Given the description of an element on the screen output the (x, y) to click on. 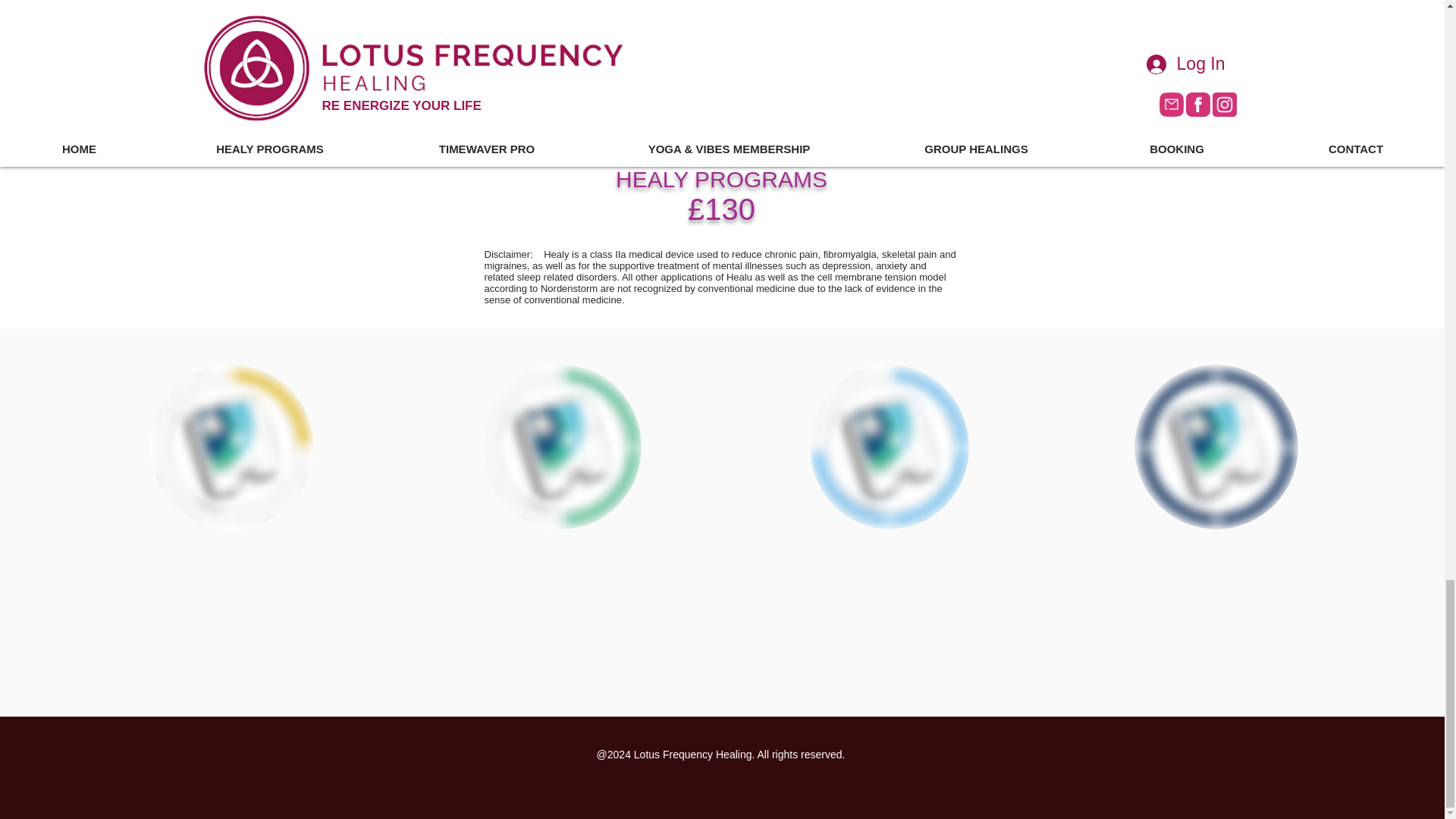
guy4.jpg (1216, 446)
guy3.jpg (889, 446)
guy2.jpg (231, 446)
guy3.jpg (721, 165)
